Given the description of an element on the screen output the (x, y) to click on. 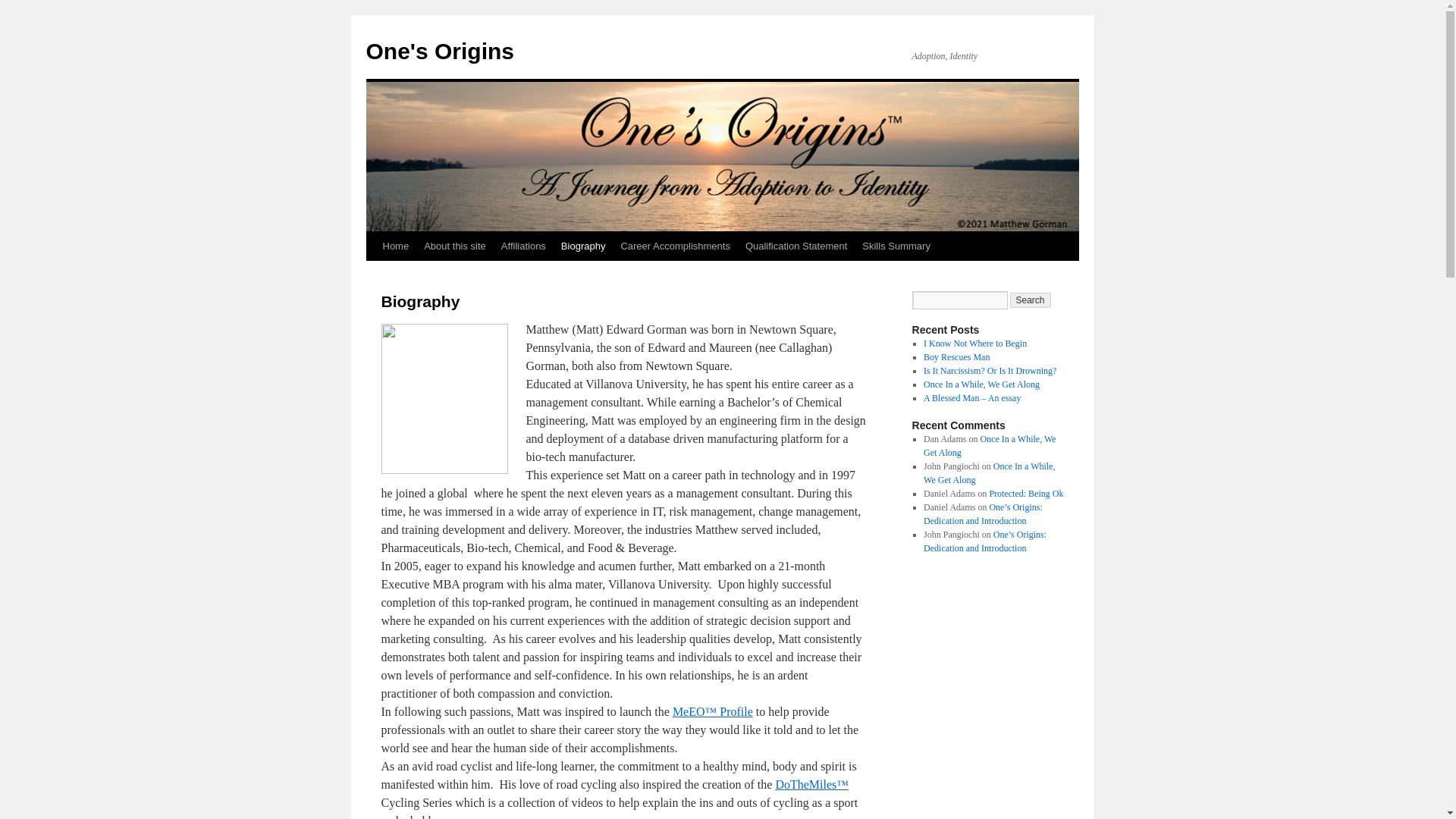
One's Origins (439, 50)
Once In a While, We Get Along (988, 473)
Is It Narcissism? Or Is It Drowning? (990, 370)
Boy Rescues Man (956, 357)
Career Accomplishments (675, 246)
Affiliations (523, 246)
Qualification Statement (796, 246)
About this site (454, 246)
Search (1030, 299)
Once In a While, We Get Along (981, 384)
